Given the description of an element on the screen output the (x, y) to click on. 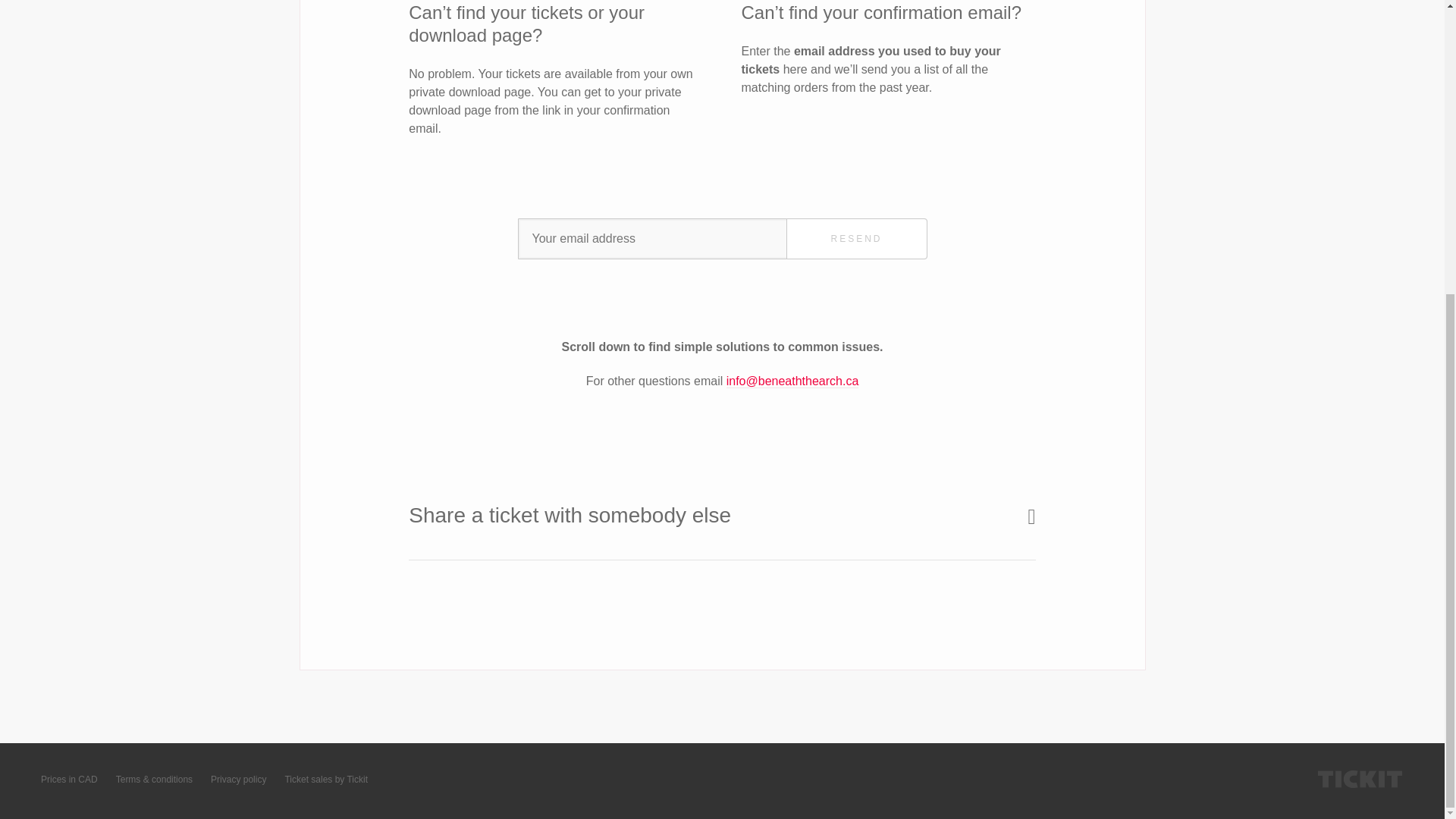
Tickit (1360, 779)
Privacy policy (238, 779)
RESEND (856, 238)
Ticket sales by Tickit (325, 779)
